Given the description of an element on the screen output the (x, y) to click on. 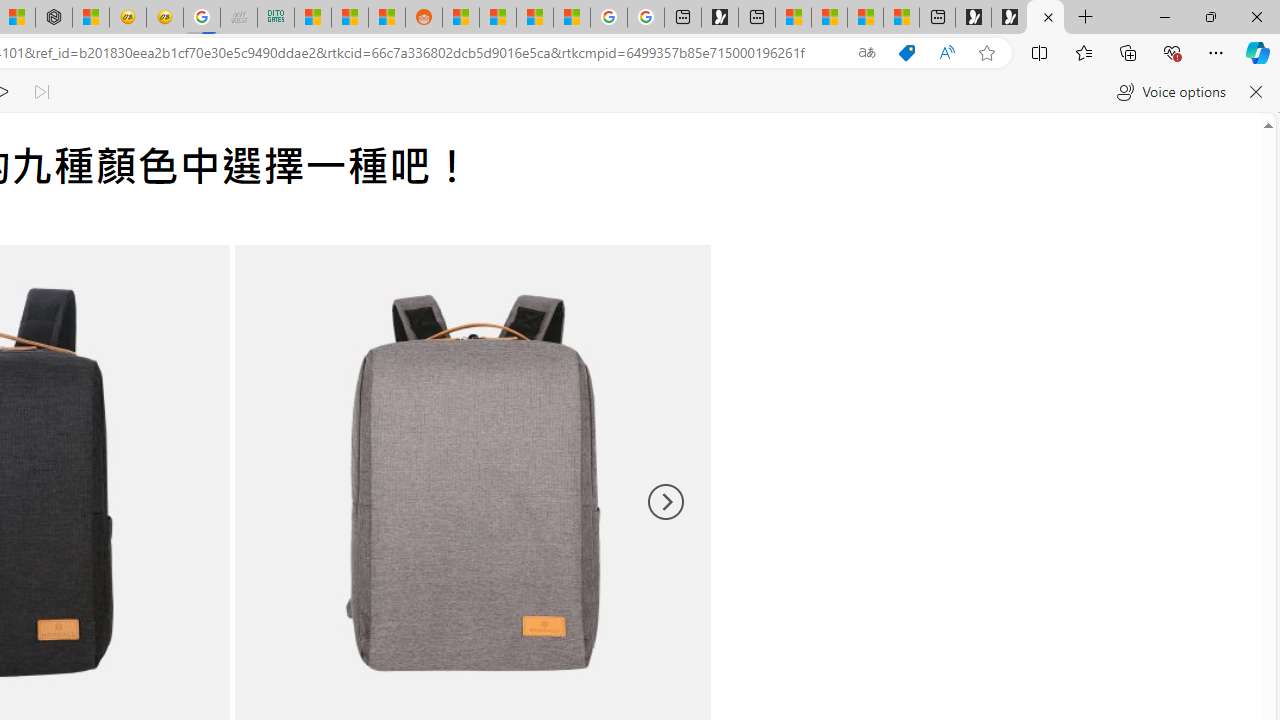
DITOGAMES AG Imprint (276, 17)
Close read aloud (1255, 92)
These 3 Stocks Pay You More Than 5% to Own Them (901, 17)
Read next paragraph (40, 92)
